Given the description of an element on the screen output the (x, y) to click on. 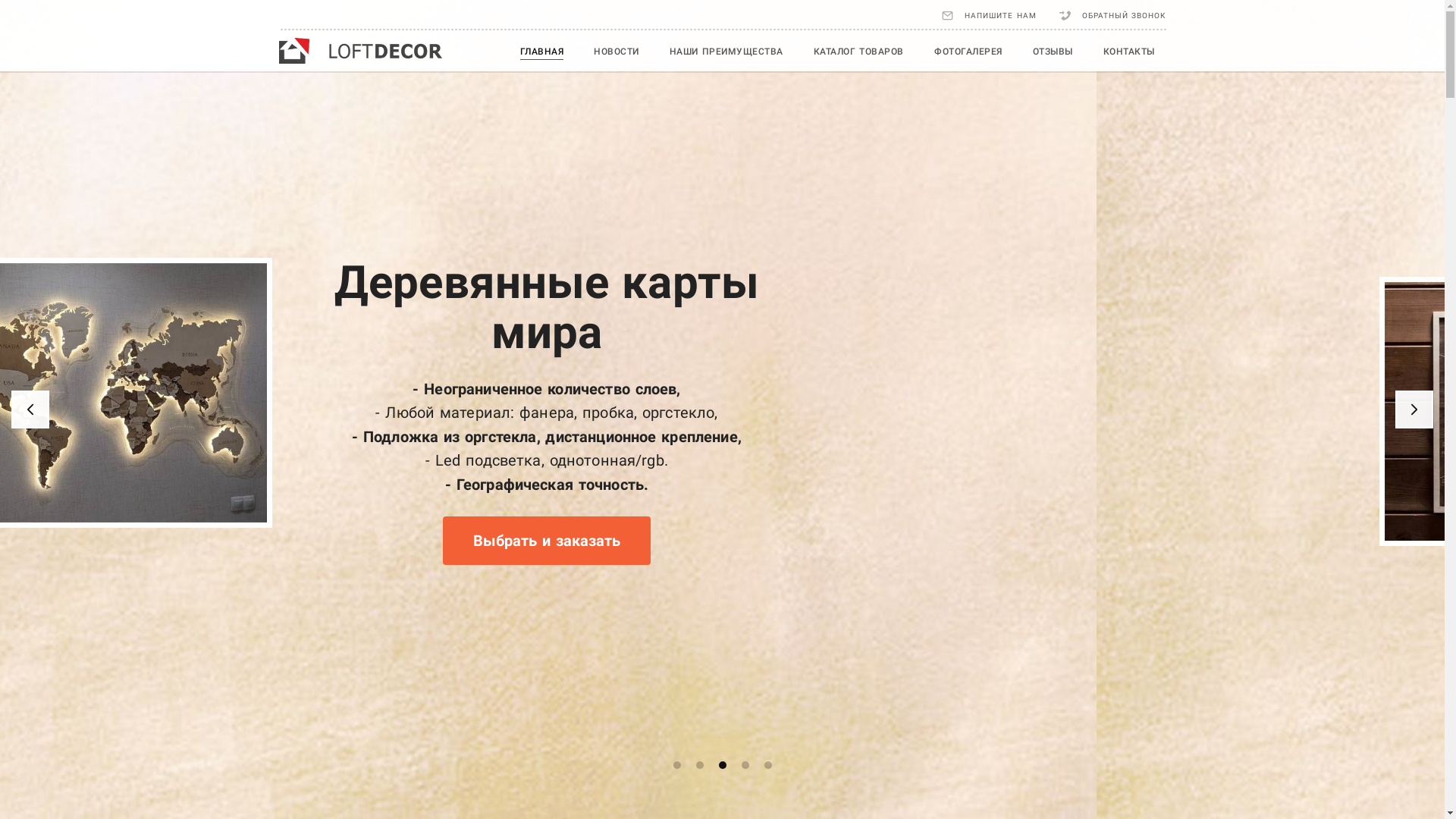
iconCreated with Avocode. Element type: text (1414, 409)
1 Element type: text (676, 764)
4 Element type: text (745, 764)
3 Element type: text (722, 764)
2 Element type: text (699, 764)
iconCreated with Avocode. Element type: text (30, 409)
5 Element type: text (767, 764)
